Given the description of an element on the screen output the (x, y) to click on. 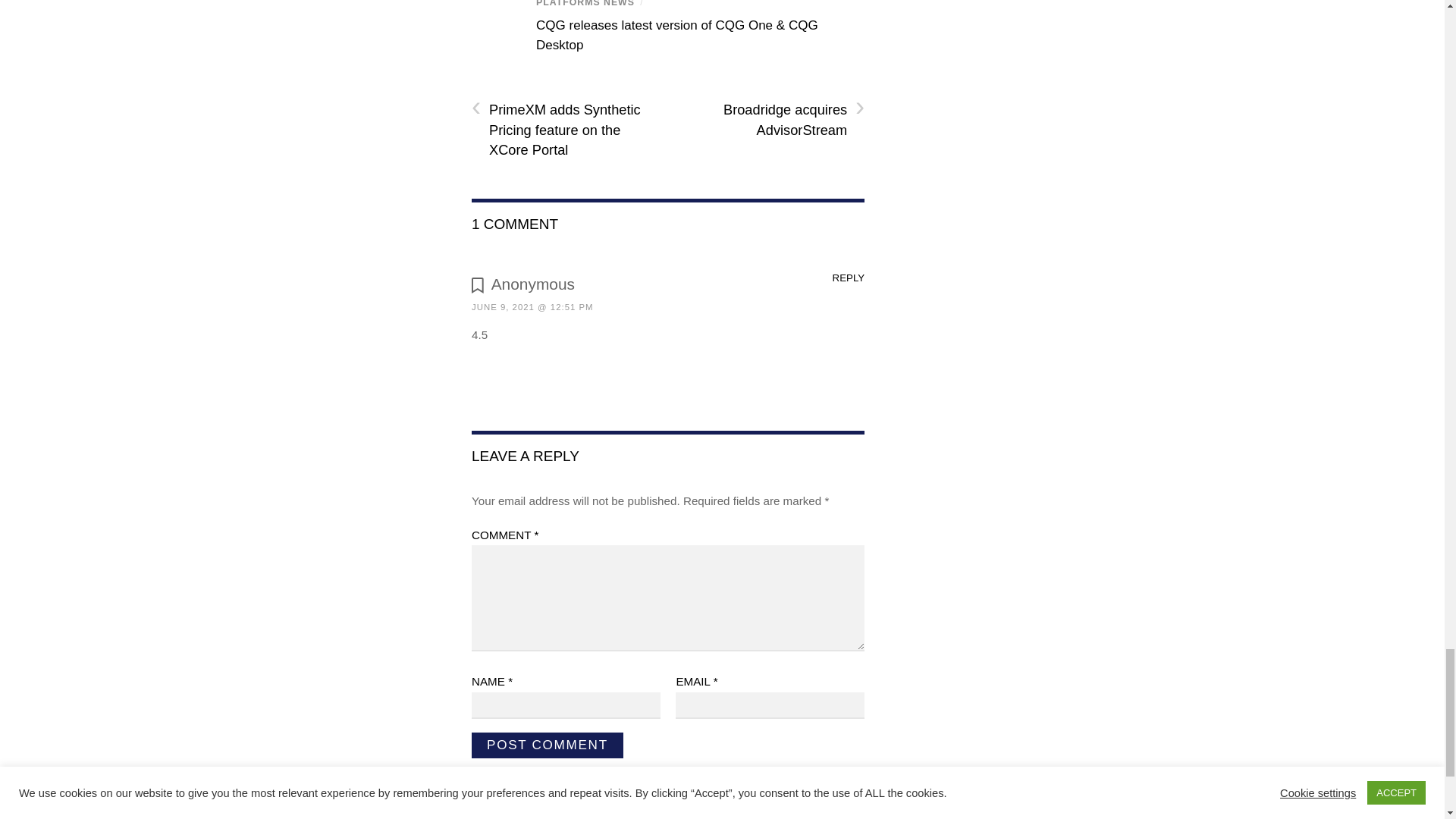
Post Comment (547, 745)
